Given the description of an element on the screen output the (x, y) to click on. 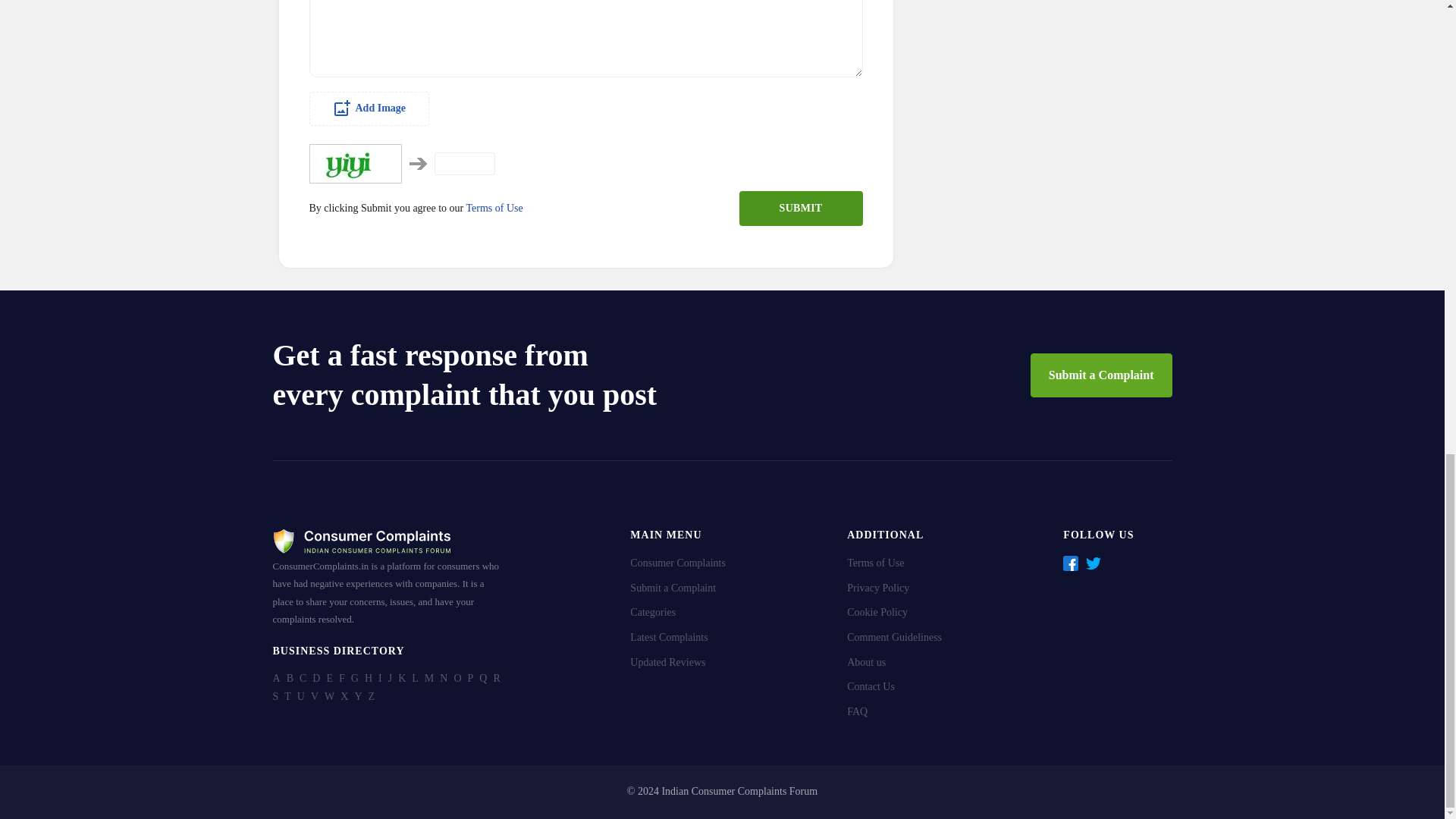
Submit a Complaint (1101, 374)
Terms of Use (493, 207)
